Given the description of an element on the screen output the (x, y) to click on. 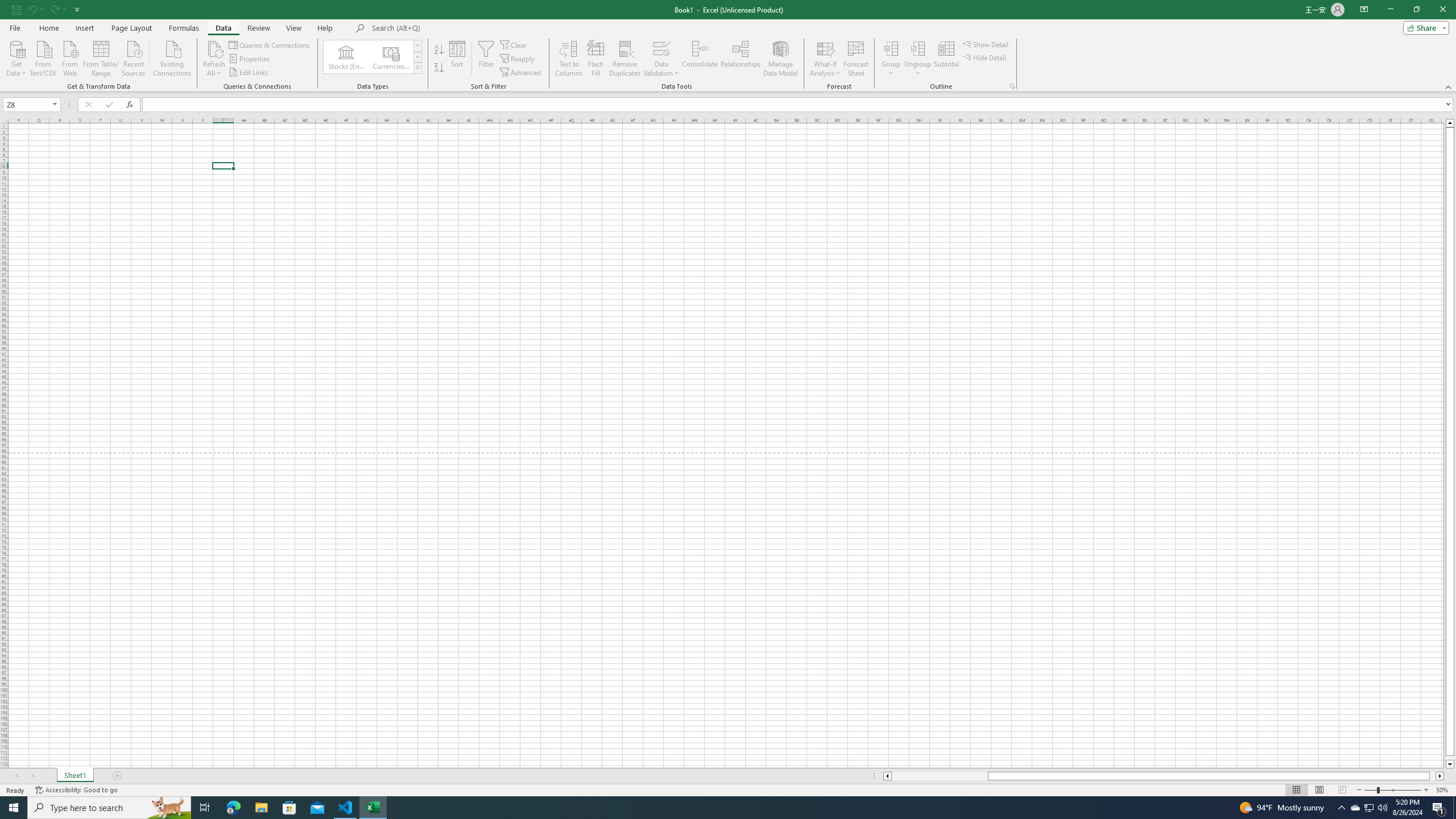
AutomationID: ConvertToLinkedEntity (372, 56)
Review (258, 28)
Line up (1449, 122)
Row up (417, 45)
Quick Access Toolbar (46, 9)
Remove Duplicates (625, 58)
Recent Sources (133, 57)
Scroll Right (32, 775)
Sort A to Z (438, 49)
